Given the description of an element on the screen output the (x, y) to click on. 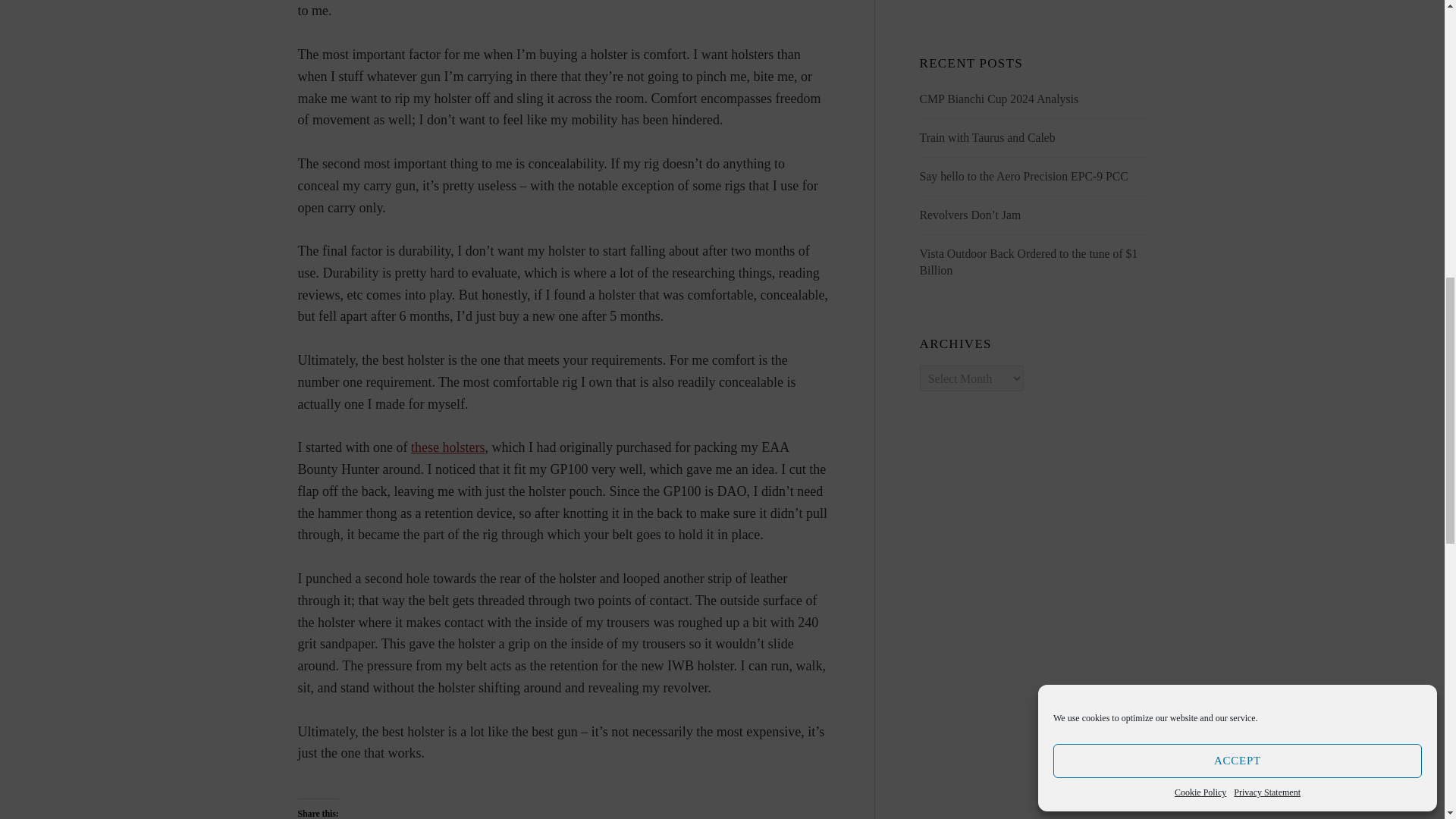
Train with Taurus and Caleb (987, 137)
CMP Bianchi Cup 2024 Analysis (999, 98)
these holsters (447, 447)
